Given the description of an element on the screen output the (x, y) to click on. 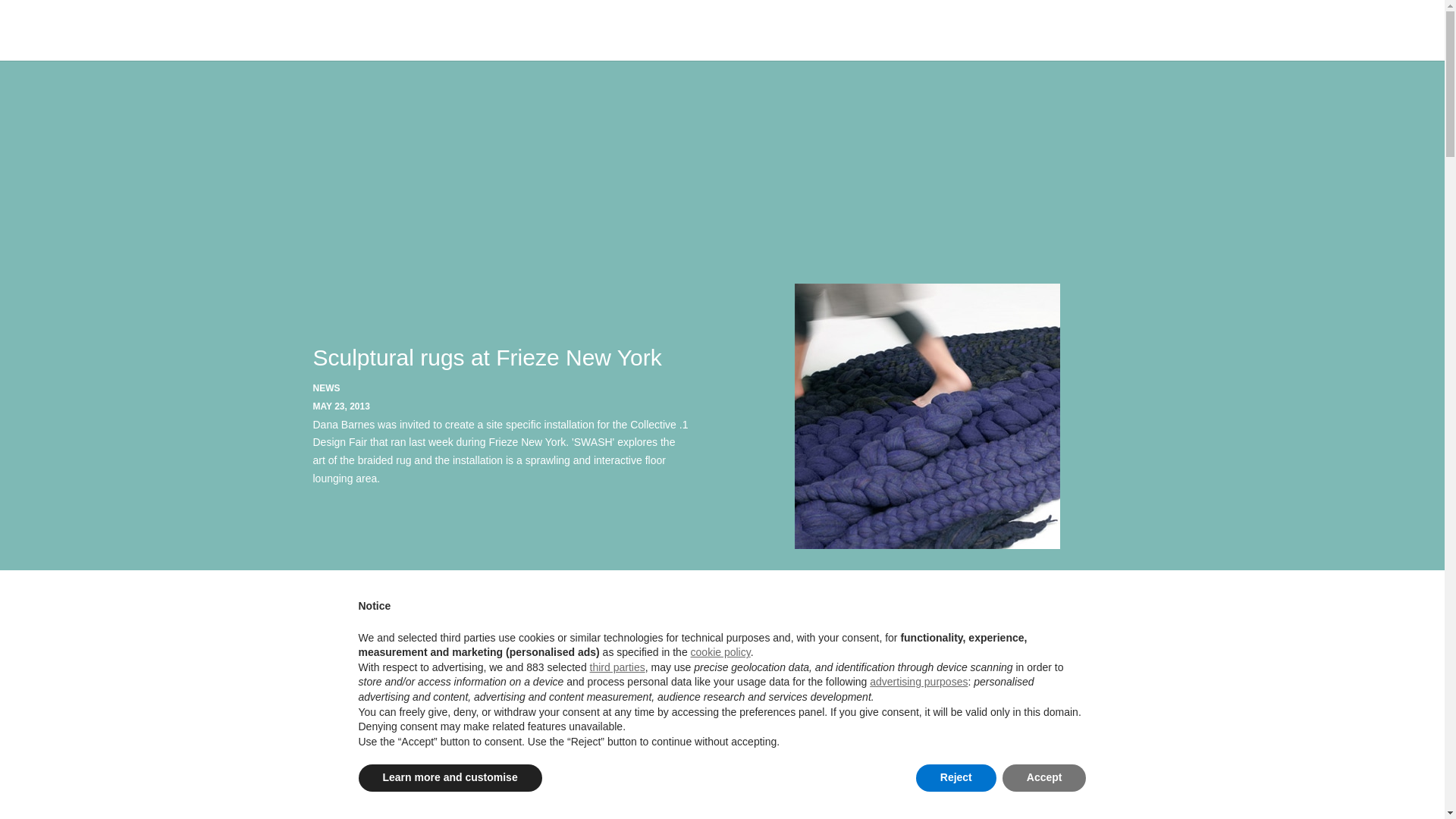
NEWS (326, 388)
carousel2 (926, 415)
